Given the description of an element on the screen output the (x, y) to click on. 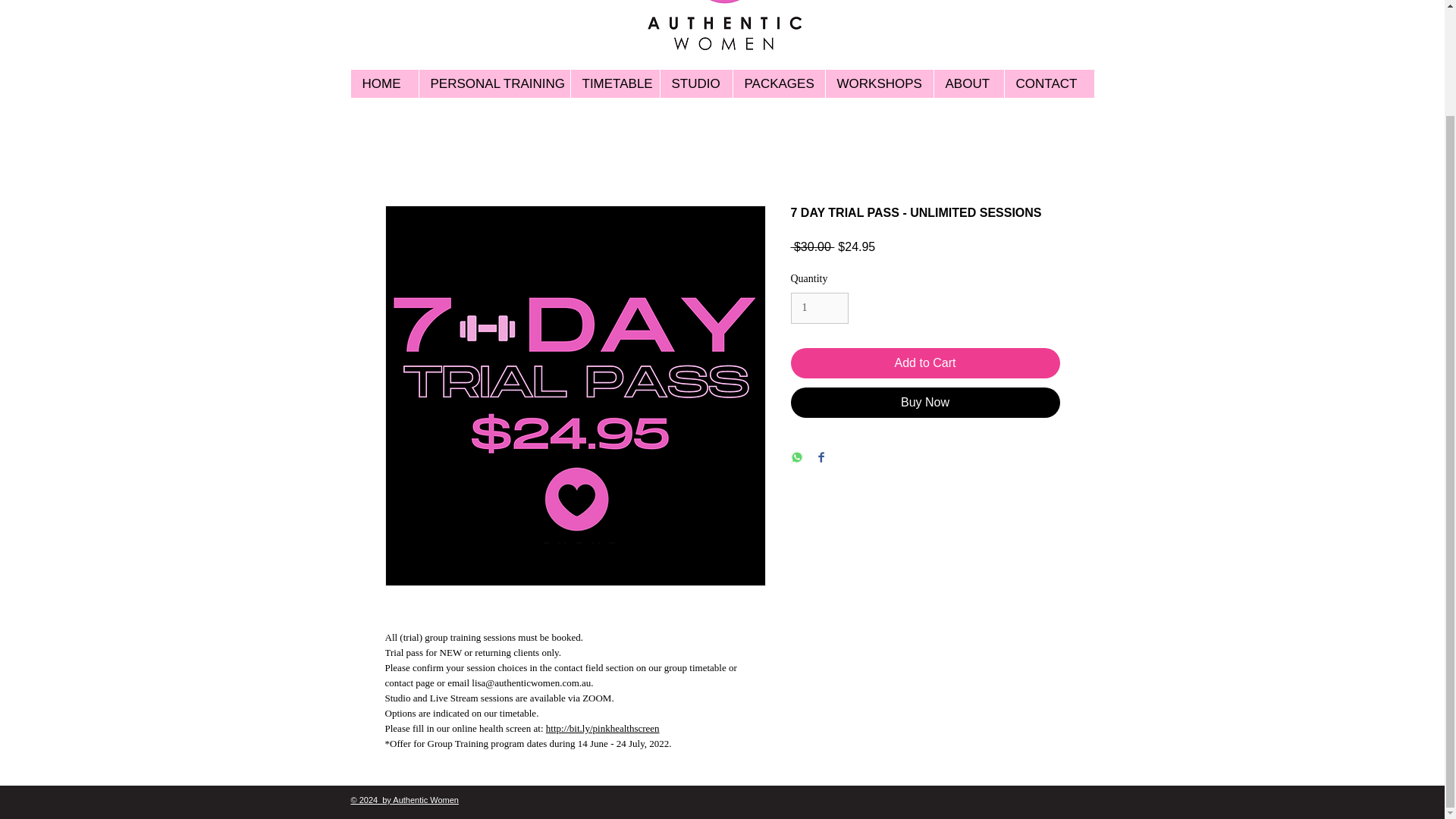
HOME (383, 83)
Authentic Women-15.png (723, 29)
ABOUT (968, 83)
1 (818, 307)
Add to Cart (924, 363)
WORKSHOPS (879, 83)
CONTACT (1049, 83)
PACKAGES (778, 83)
Buy Now (924, 402)
PERSONAL TRAINING (494, 83)
TIMETABLE (614, 83)
STUDIO (695, 83)
